Given the description of an element on the screen output the (x, y) to click on. 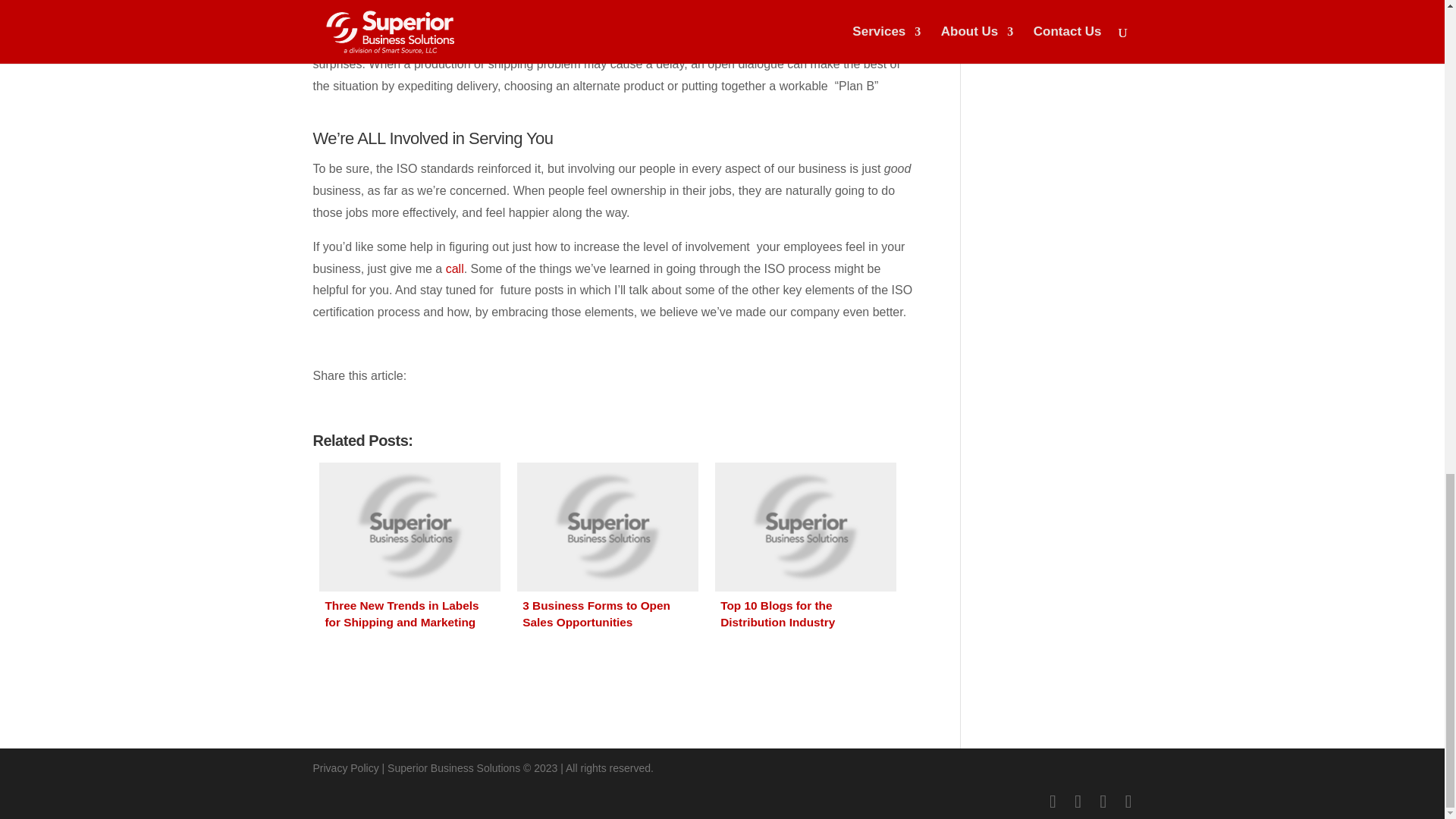
3 Business Forms to Open Sales Opportunities (607, 552)
Three New Trends in Labels for Shipping and Marketing (409, 552)
3 Business Forms to Open Sales Opportunities (607, 552)
Top 10 Blogs for the Distribution Industry (805, 552)
Privacy Policy (345, 767)
Three New Trends in Labels for Shipping and Marketing (409, 552)
call (454, 268)
Top 10 Blogs for the Distribution Industry (805, 552)
